Given the description of an element on the screen output the (x, y) to click on. 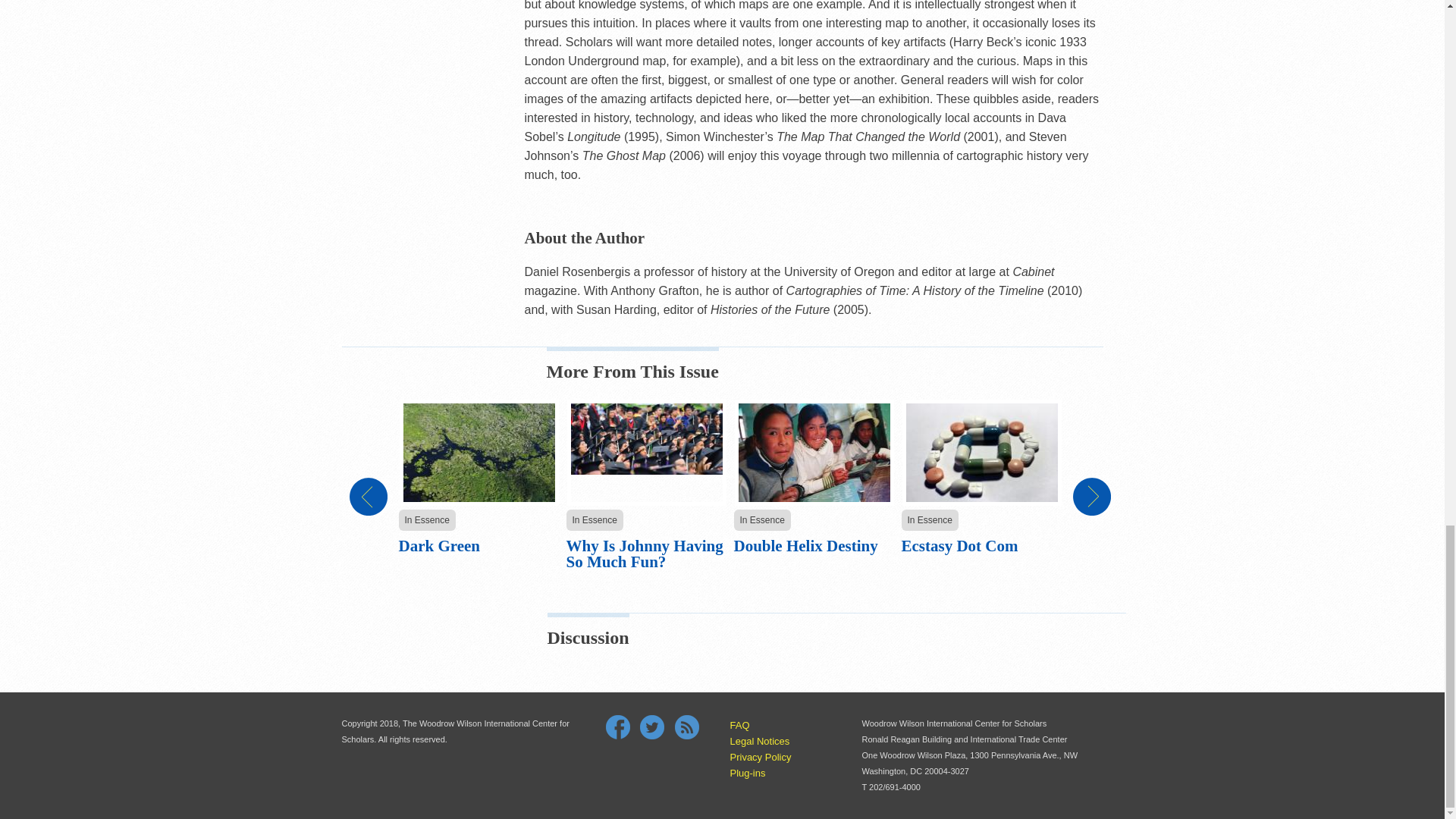
Go to next page (1090, 496)
Follow Wilson Quarterly on Twitter (651, 726)
Plug-ins (747, 772)
Go to previous page (368, 496)
Why Is Johnny Having So Much Fun? (644, 553)
Facebook (616, 726)
Double Helix Destiny (805, 546)
FAQ (739, 725)
Ecstasy Dot Com (959, 546)
Legal Notices (759, 740)
